Given the description of an element on the screen output the (x, y) to click on. 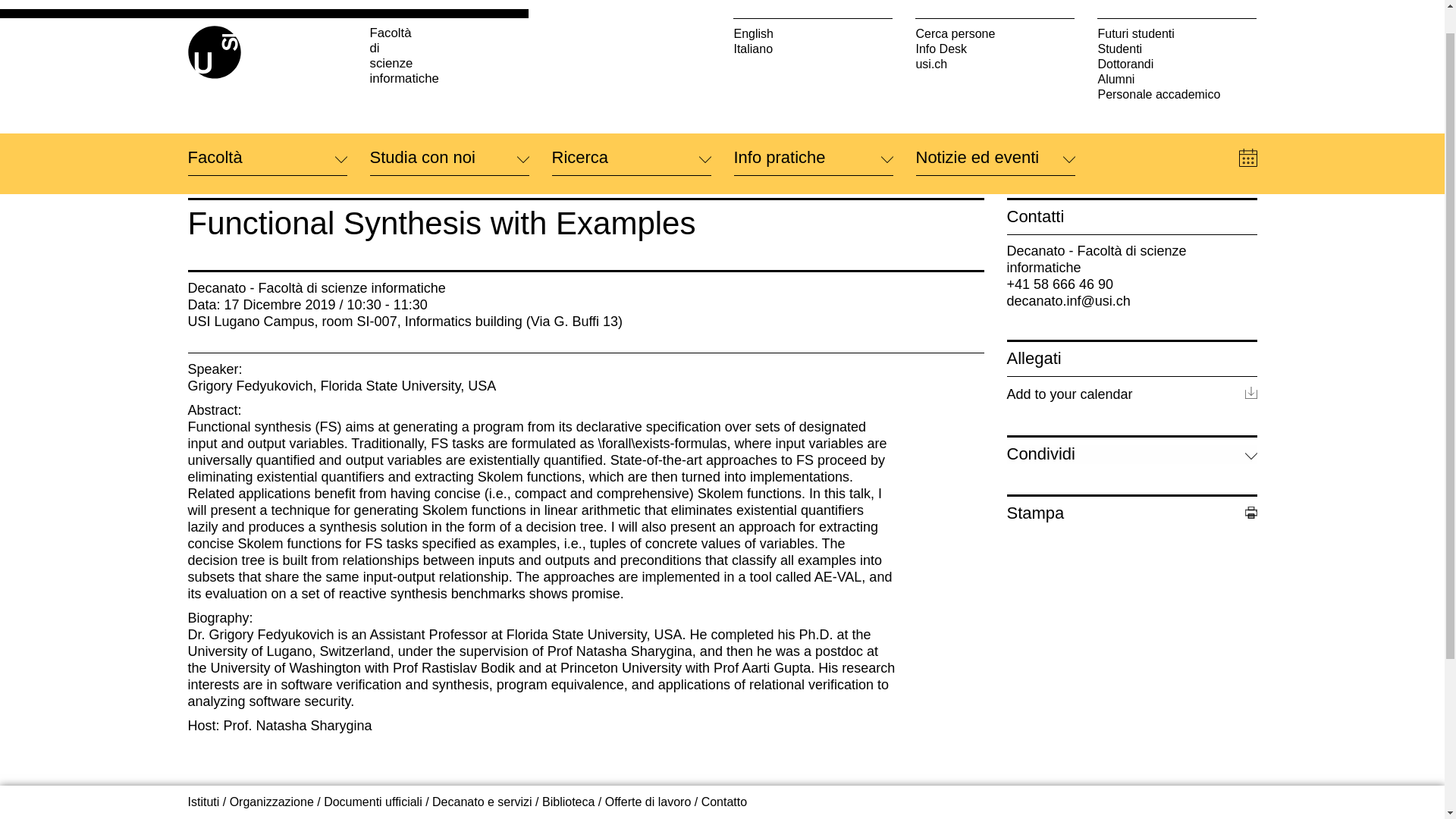
Italiano (812, 19)
English (812, 6)
Studenti (1176, 19)
Alumni (1176, 49)
Futuri studenti (1176, 6)
Dottorandi (1176, 34)
Cerca persone (994, 6)
Personale accademico (1176, 64)
Info Desk (994, 19)
usi.ch (994, 34)
